Given the description of an element on the screen output the (x, y) to click on. 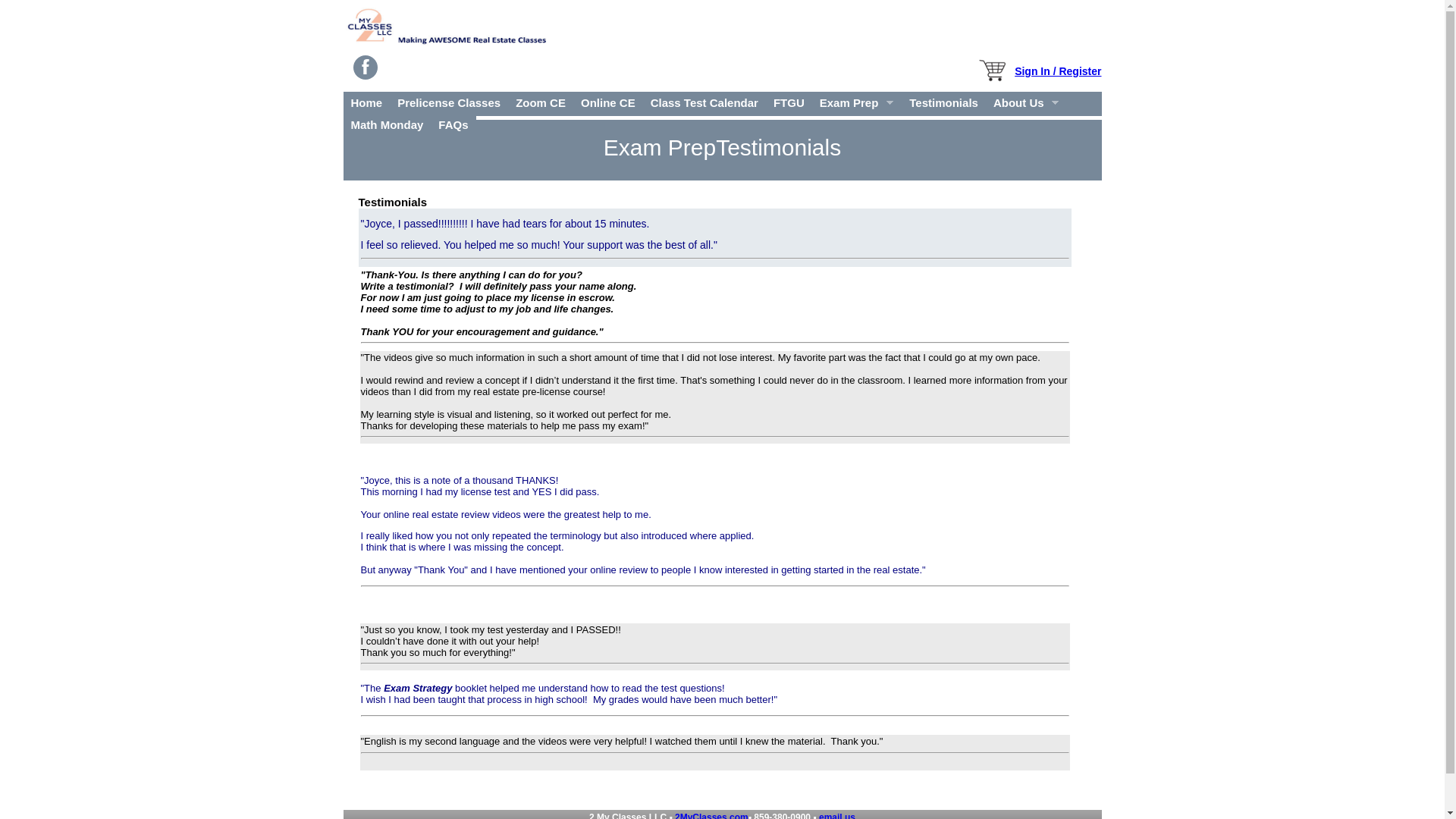
Sign In / Register Element type: text (1057, 71)
Math Monday Element type: text (386, 124)
Zoom CE Element type: text (540, 102)
Prelicense Classes Element type: text (448, 102)
FTGU Element type: text (788, 102)
FAQs Element type: text (452, 124)
Testimonials Element type: text (943, 102)
Home Element type: text (365, 102)
Class Test Calendar Element type: text (704, 102)
Online CE Element type: text (608, 102)
